Given the description of an element on the screen output the (x, y) to click on. 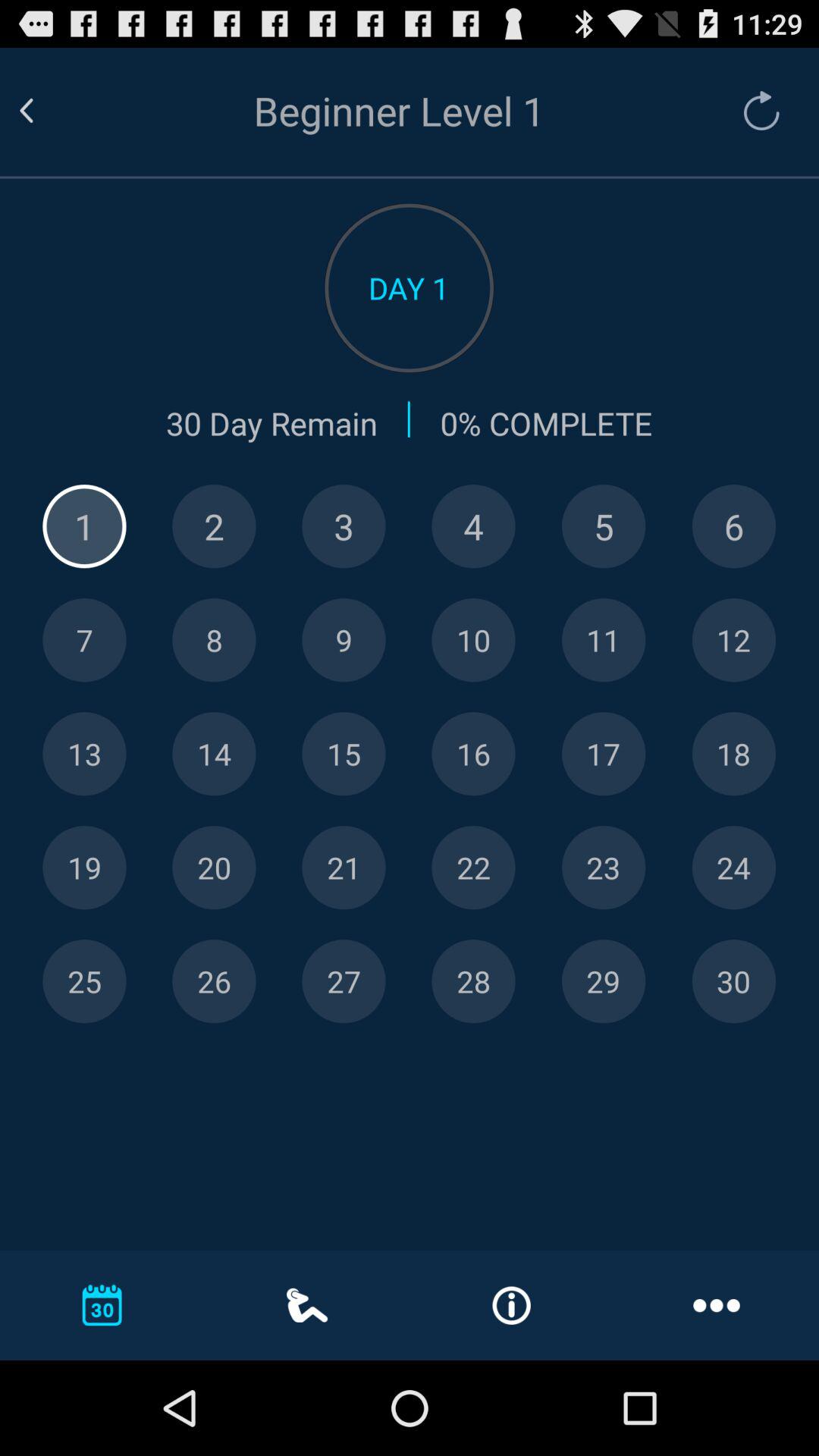
toggle day 22 (473, 867)
